Given the description of an element on the screen output the (x, y) to click on. 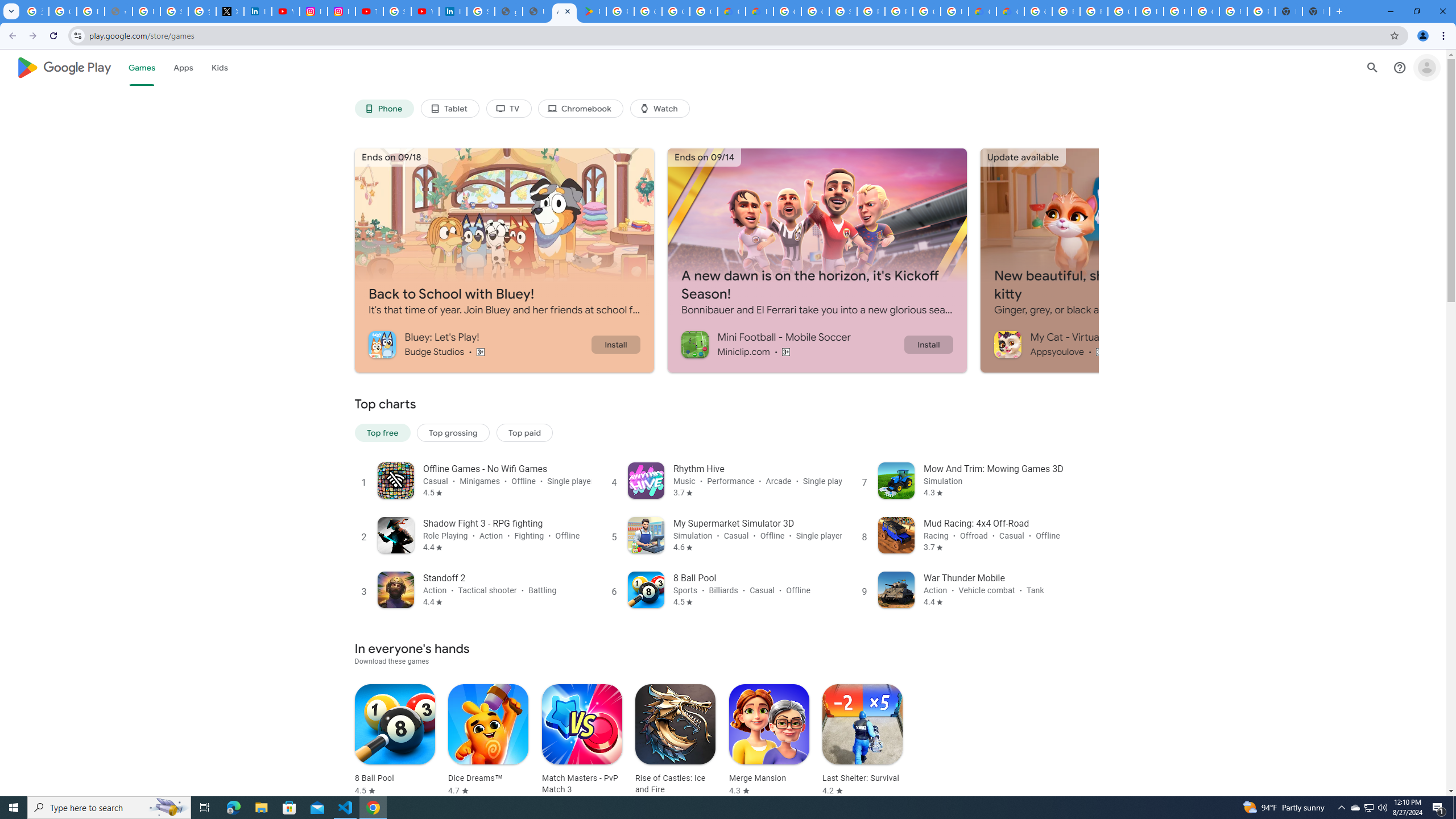
Games (141, 67)
Browse Chrome as a guest - Computer - Google Chrome Help (1093, 11)
Kids (219, 67)
Google Play logo (64, 67)
YouTube Content Monetization Policies - How YouTube Works (285, 11)
Google Cloud Estimate Summary (1010, 11)
Google Cloud Platform (787, 11)
Google Cloud Platform (1205, 11)
